Given the description of an element on the screen output the (x, y) to click on. 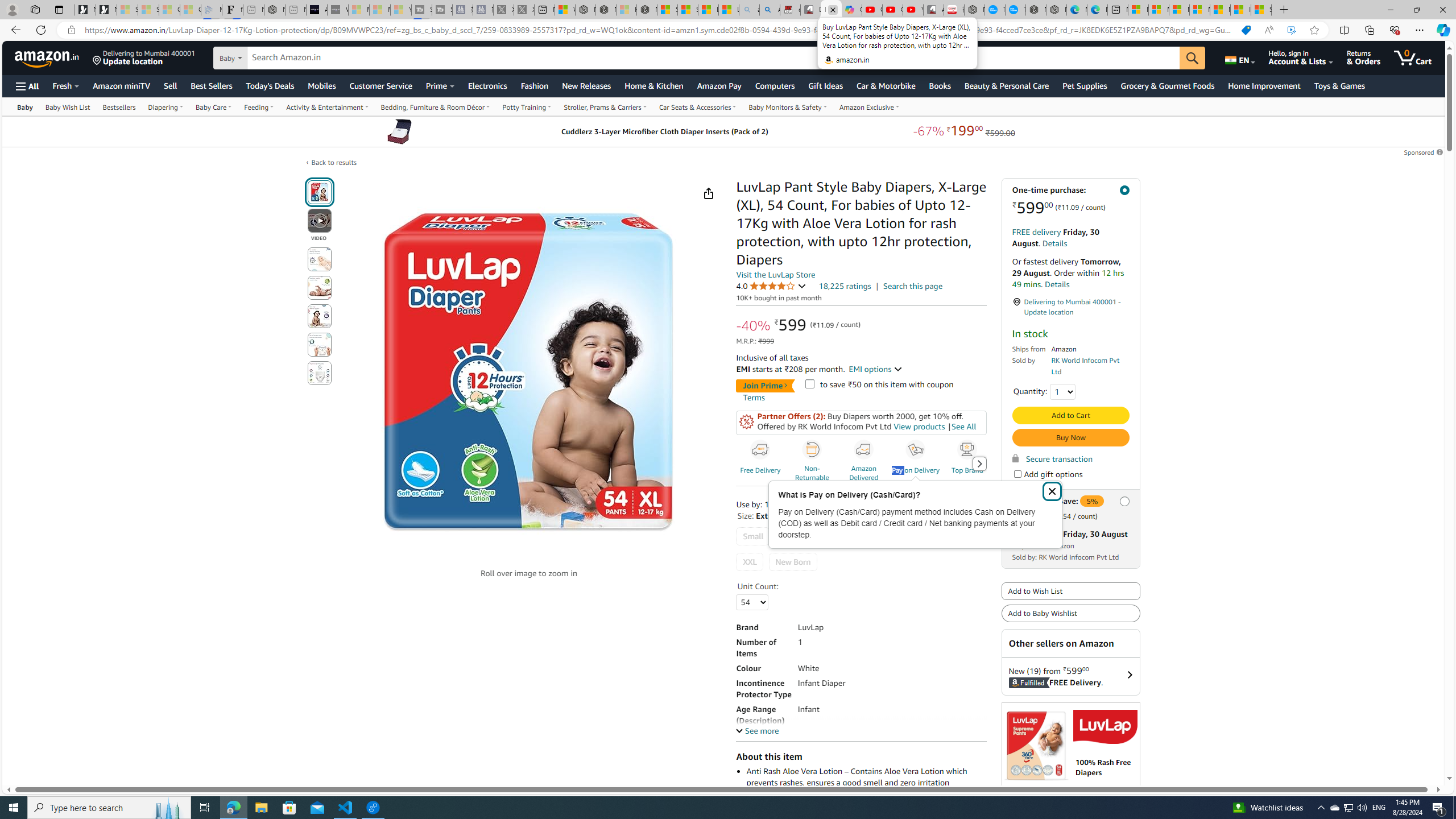
YouTube Kids - An App Created for Kids to Explore Content (913, 9)
Microsoft Start Sports - Sleeping (358, 9)
New tab - Sleeping (296, 9)
This site has coupons! Shopping in Microsoft Edge (1245, 29)
X - Sleeping (523, 9)
Streaming Coverage | T3 - Sleeping (421, 9)
